Given the description of an element on the screen output the (x, y) to click on. 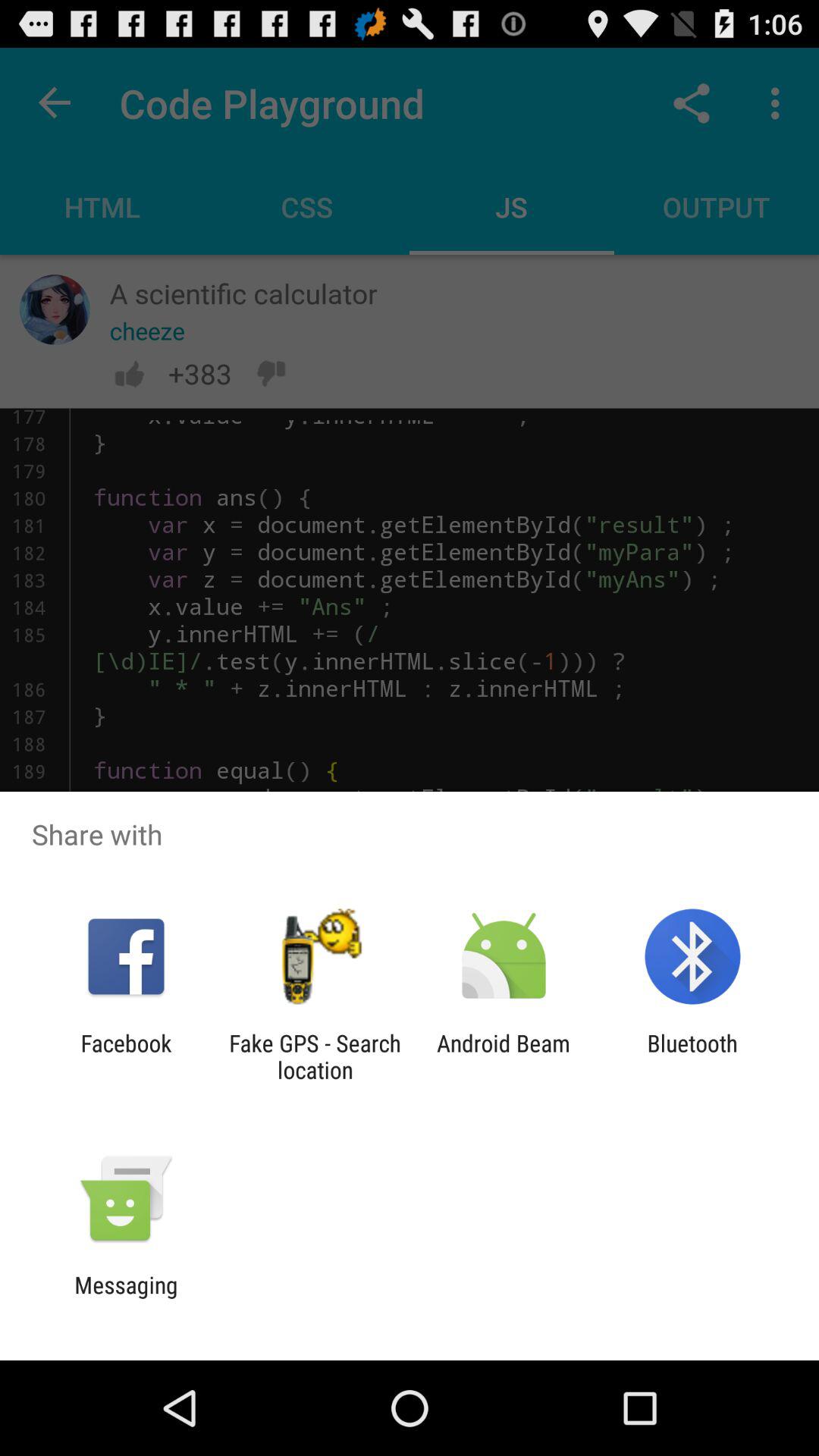
scroll until facebook item (125, 1056)
